Given the description of an element on the screen output the (x, y) to click on. 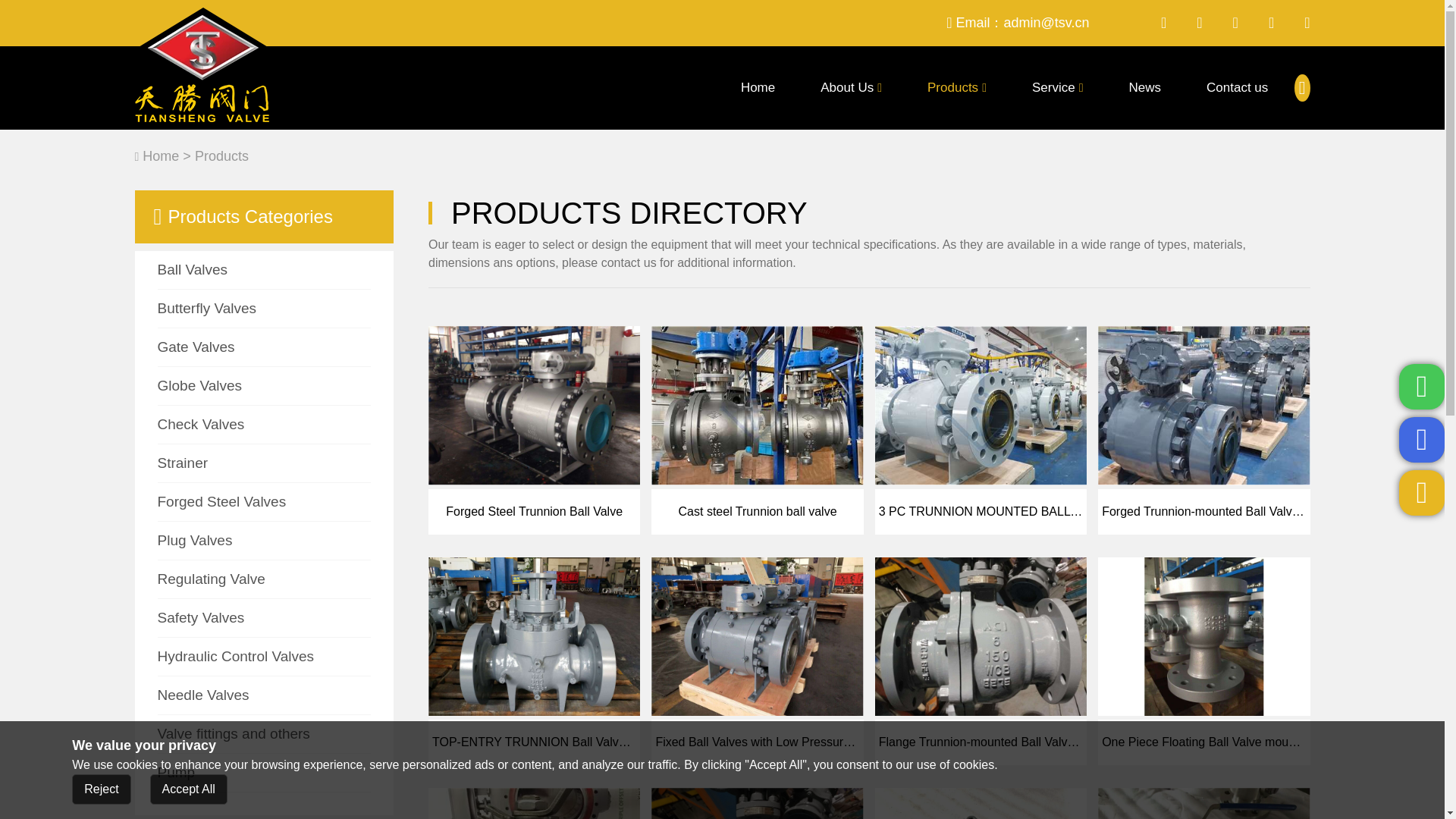
Products (956, 87)
About Us (850, 87)
About Us (850, 87)
Home (757, 87)
Products (956, 87)
Home (757, 87)
